Given the description of an element on the screen output the (x, y) to click on. 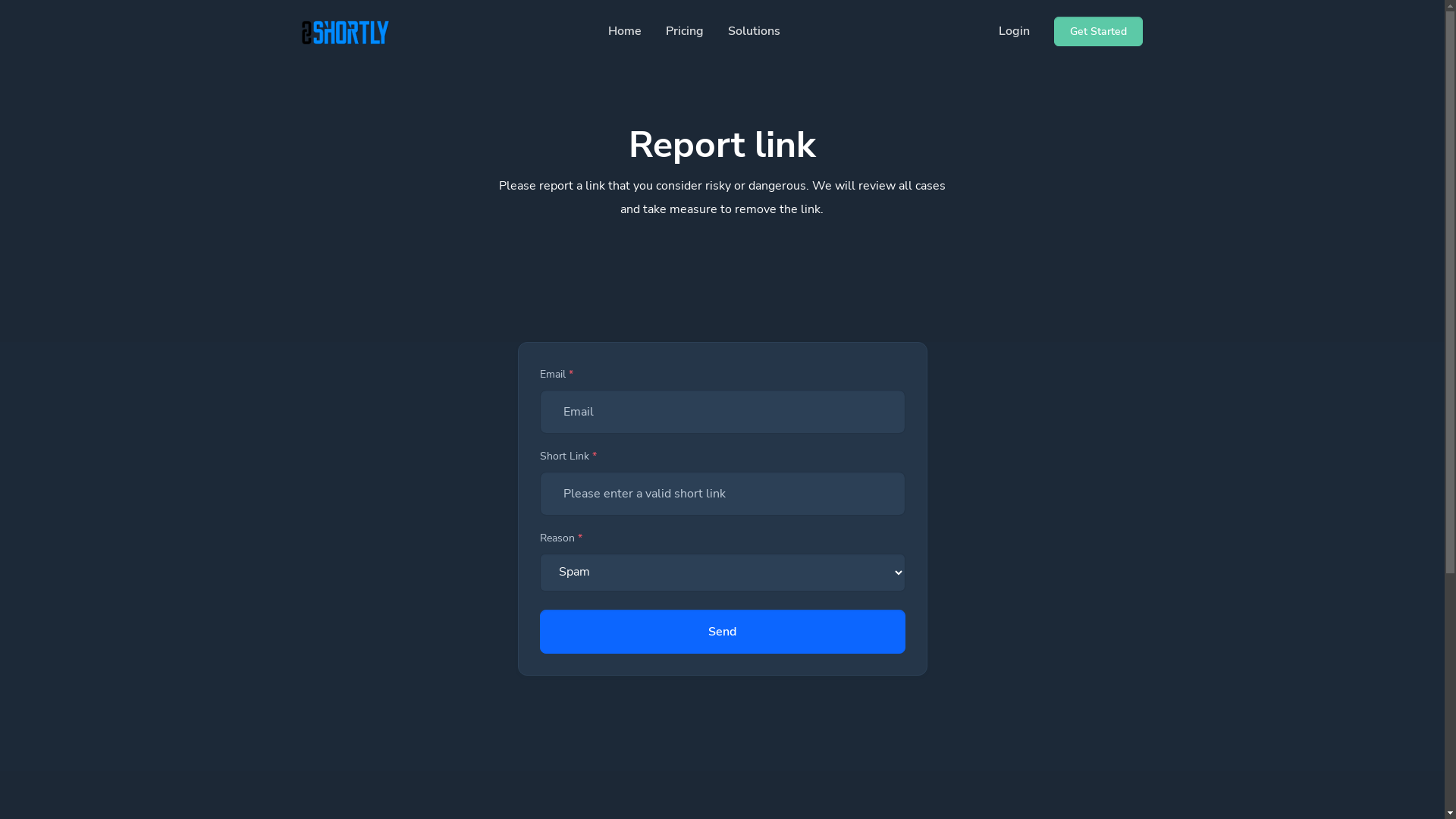
Get Started Element type: text (1098, 31)
Shortly - URL Shortener and Link Management Tools Element type: hover (345, 31)
Send Element type: text (722, 631)
Pricing Element type: text (684, 31)
Home Element type: text (624, 31)
Solutions Element type: text (753, 31)
Login Element type: text (1013, 31)
